Given the description of an element on the screen output the (x, y) to click on. 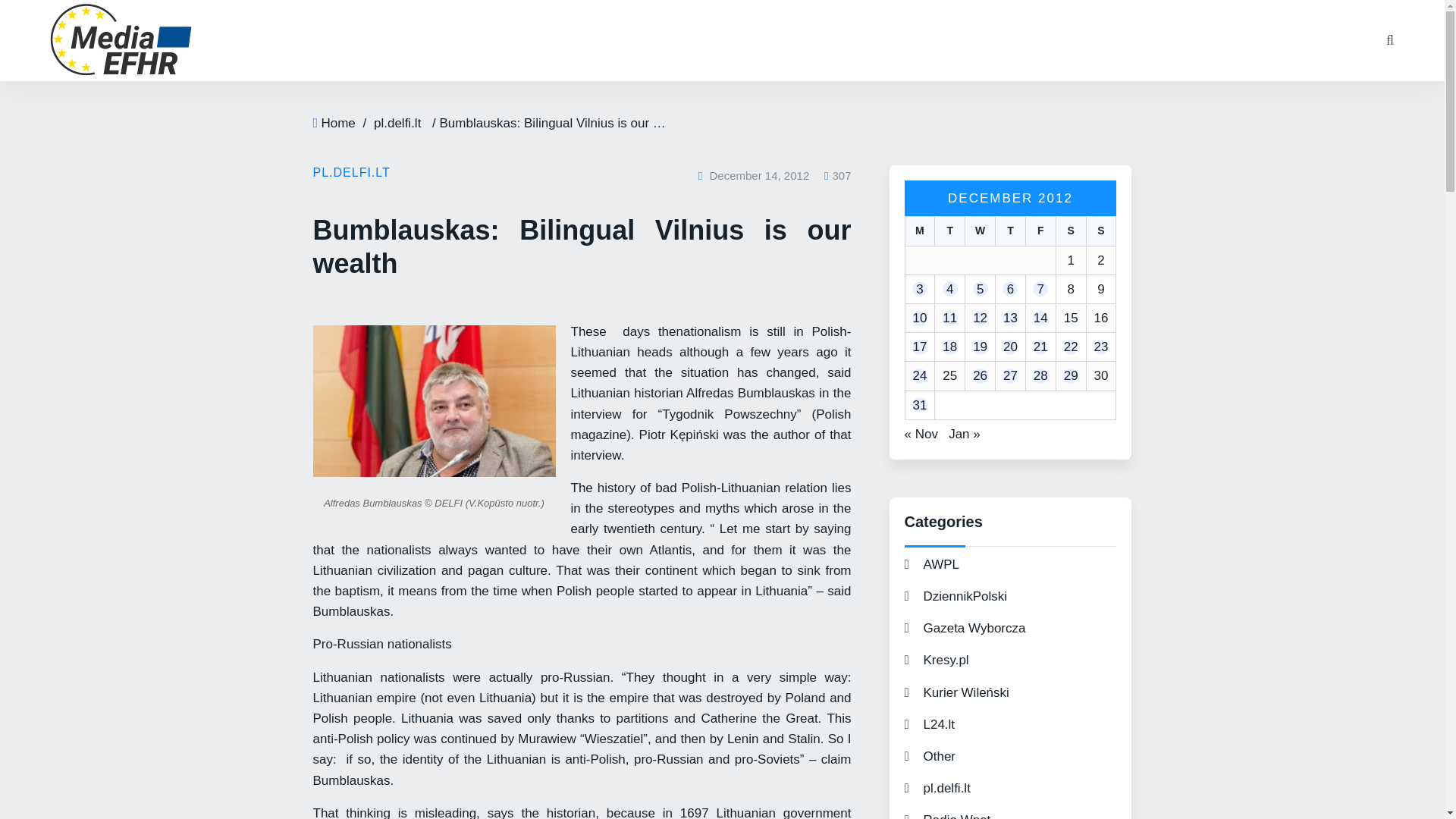
pl.delfi.lt (397, 123)
Monday (919, 230)
Tuesday (948, 230)
Friday (1040, 230)
4 (948, 289)
5 (979, 289)
10 (919, 317)
Wednesday (978, 230)
3 (919, 289)
Thursday (1009, 230)
13 (1010, 317)
7 (1040, 289)
Sunday (1101, 230)
12 (979, 317)
PL.DELFI.LT (351, 172)
